Given the description of an element on the screen output the (x, y) to click on. 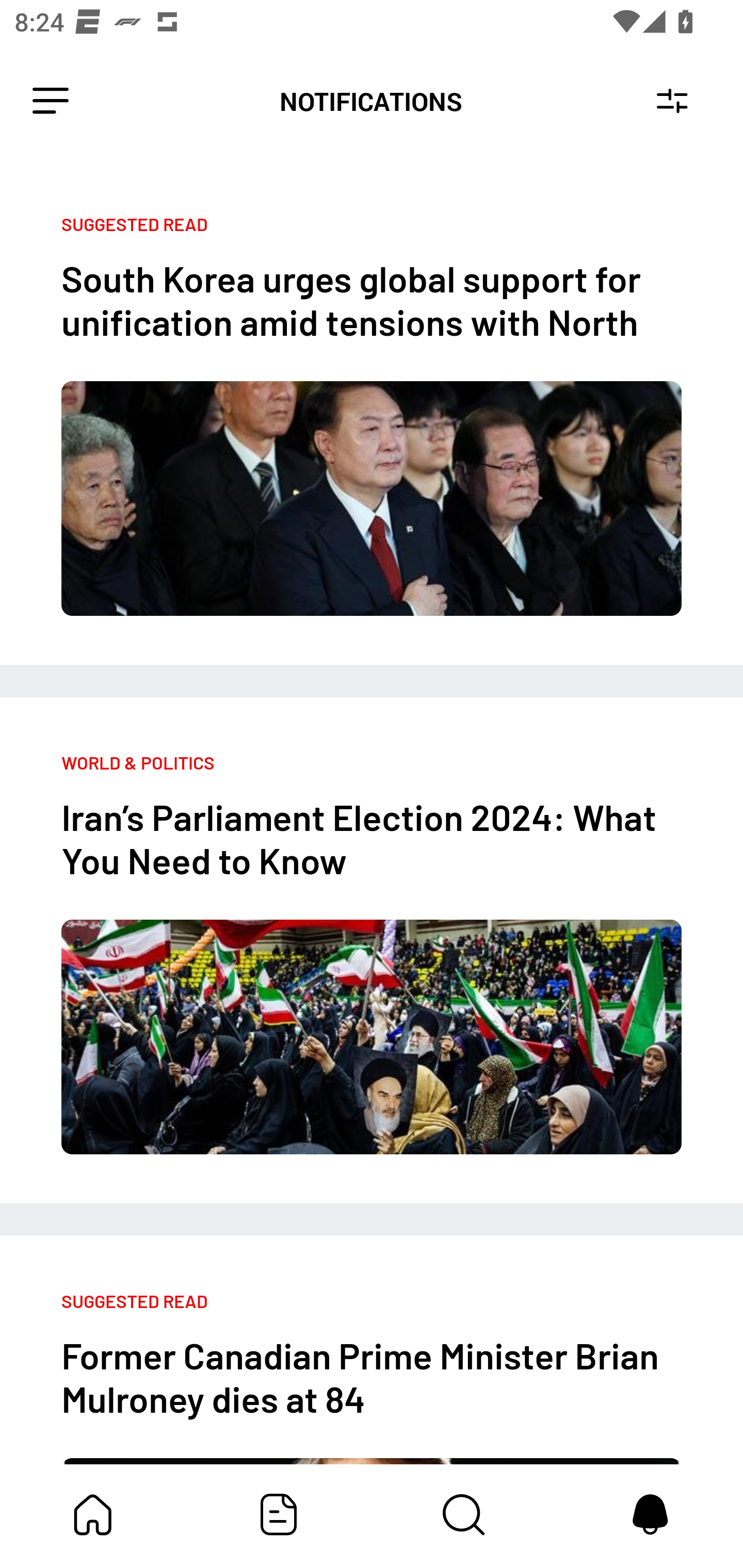
Leading Icon (50, 101)
Notification Settings (672, 101)
My Bundle (92, 1514)
Featured (278, 1514)
Content Store (464, 1514)
